Given the description of an element on the screen output the (x, y) to click on. 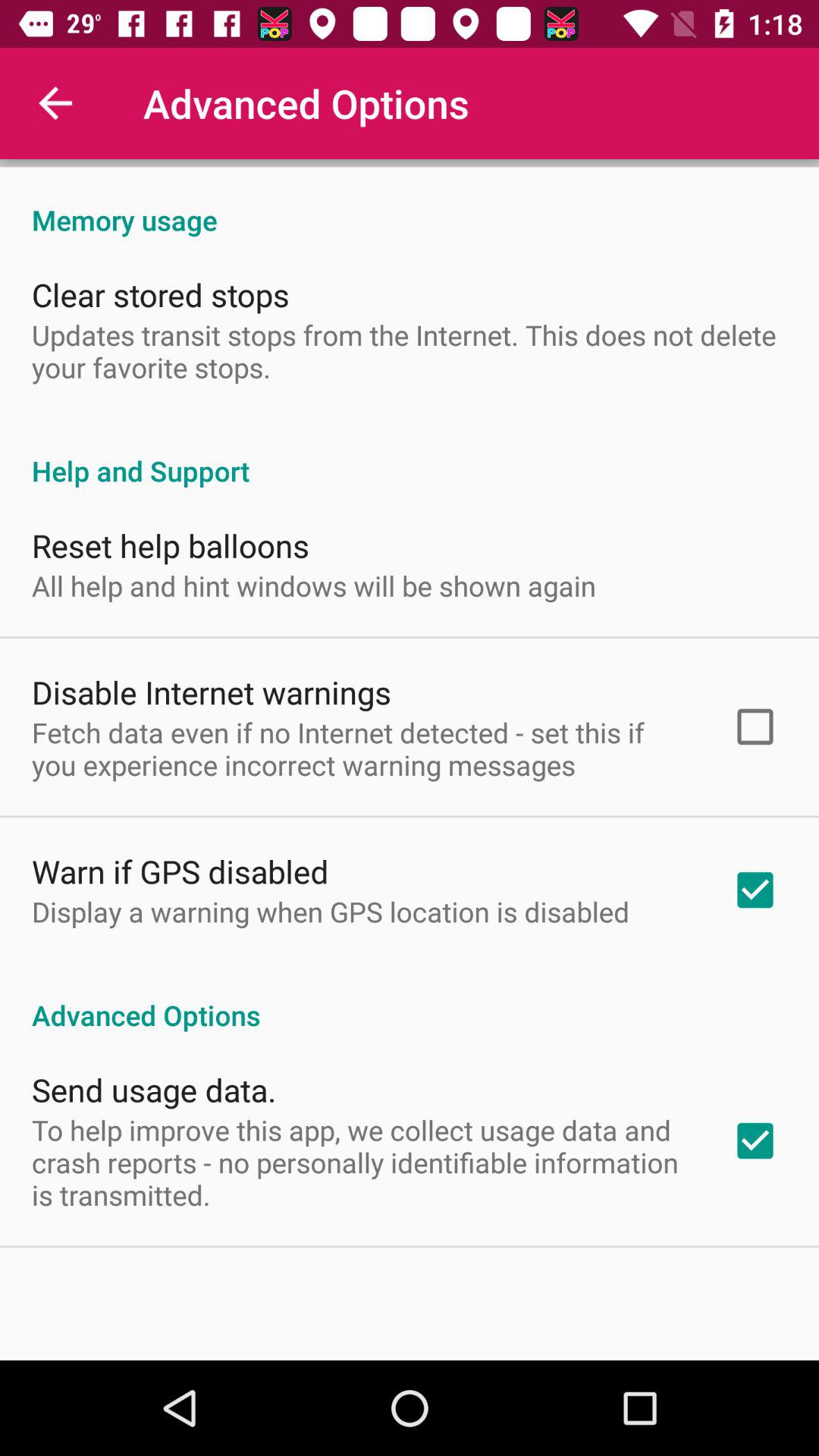
turn off the icon below the memory usage icon (160, 294)
